Given the description of an element on the screen output the (x, y) to click on. 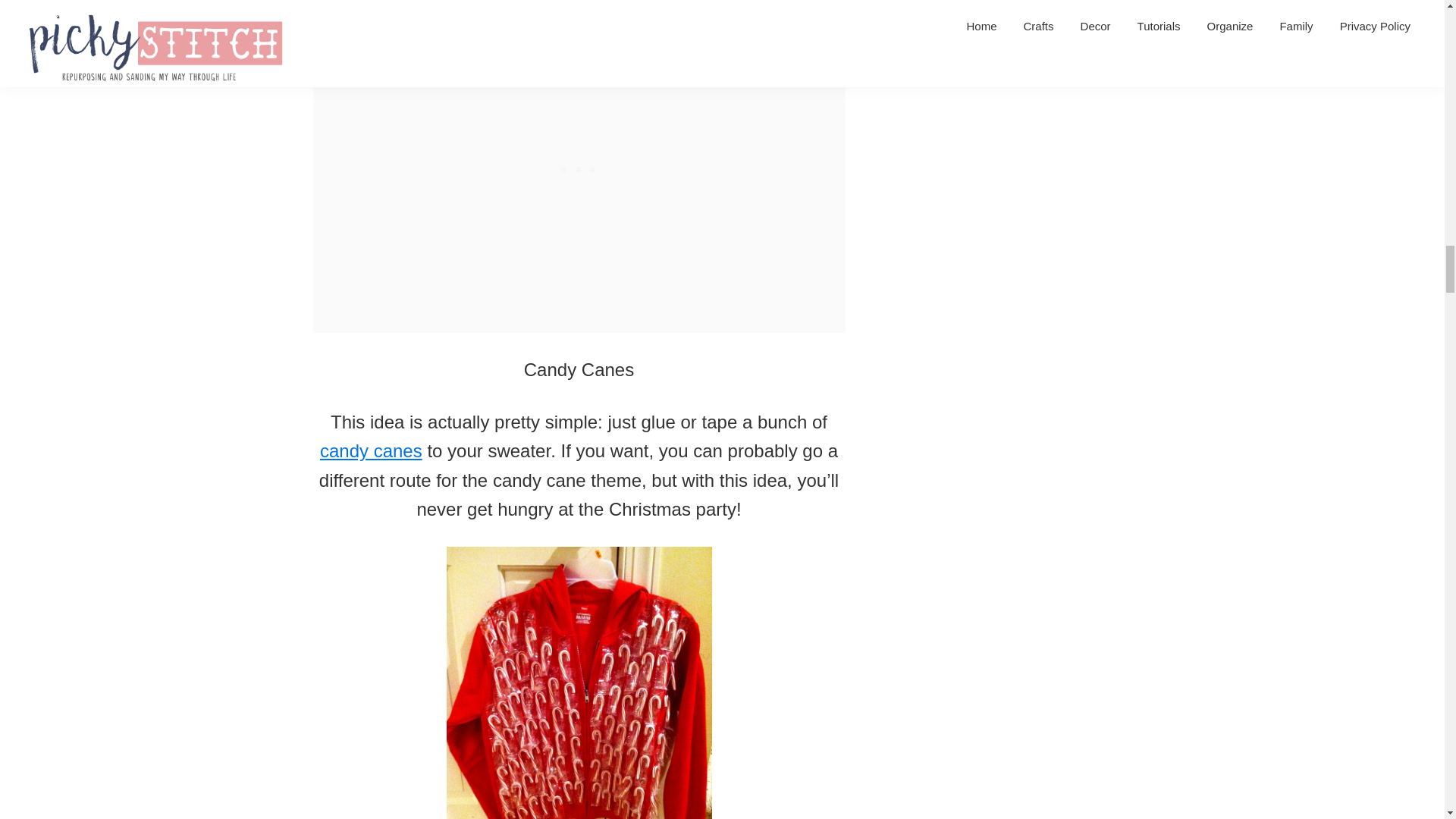
candy canes (371, 450)
